Given the description of an element on the screen output the (x, y) to click on. 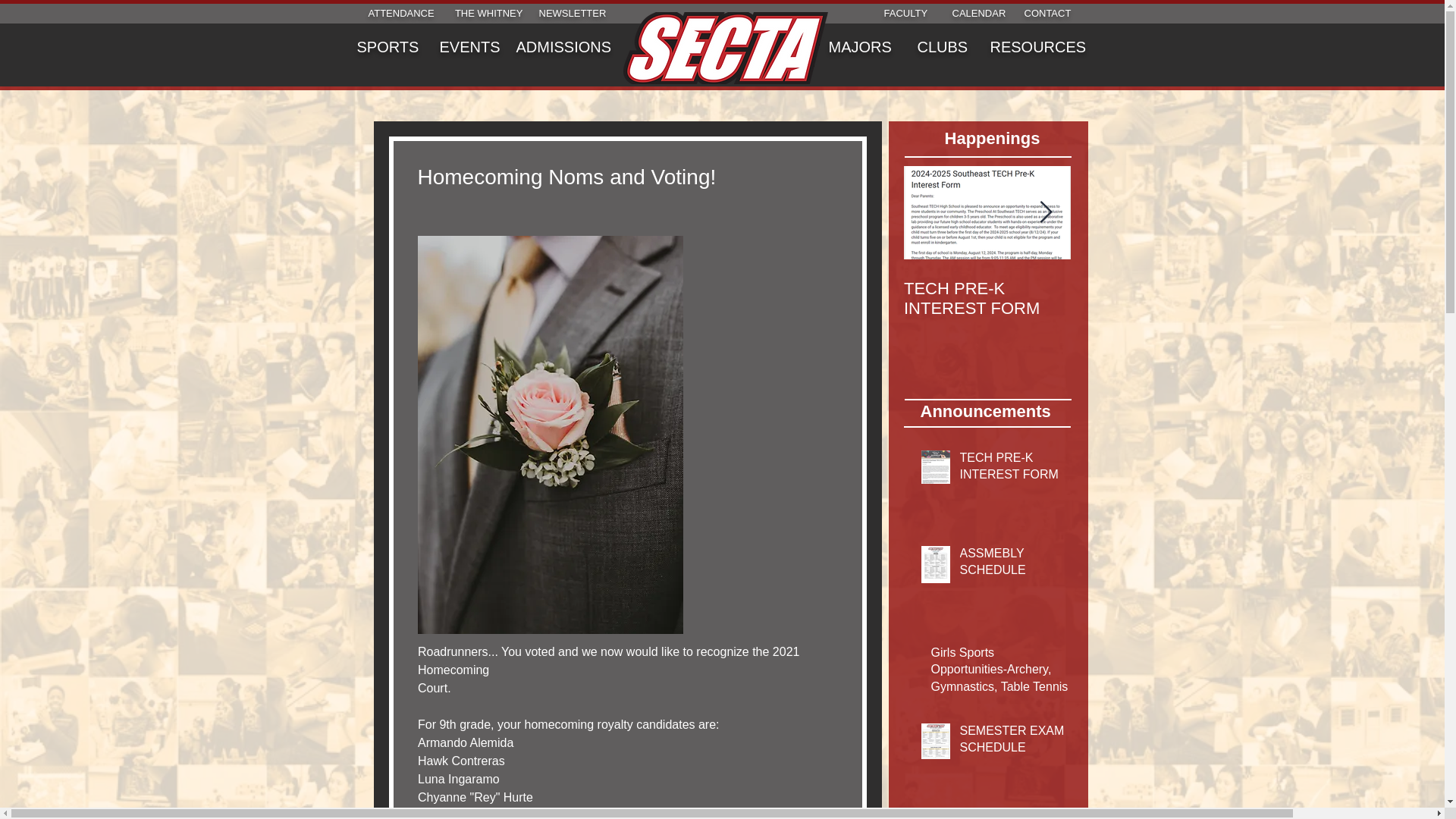
CLUBS (942, 46)
EVENTS (469, 46)
Girls Sports Opportunities-Archery, Gymnastics, Table Tennis (1153, 308)
SEMESTER EXAM SCHEDULE (1013, 742)
FACULTY (905, 12)
NEWSLETTER (571, 12)
ADMISSIONS (563, 46)
CALENDAR (979, 12)
ATTENDANCE (400, 12)
MAJORS (859, 46)
TECH PRE-K INTEREST FORM (1013, 469)
CONTACT (1046, 12)
RESOURCES (1038, 46)
ASSMEBLY SCHEDULE (1013, 565)
 THE WHITNEY (486, 12)
